Given the description of an element on the screen output the (x, y) to click on. 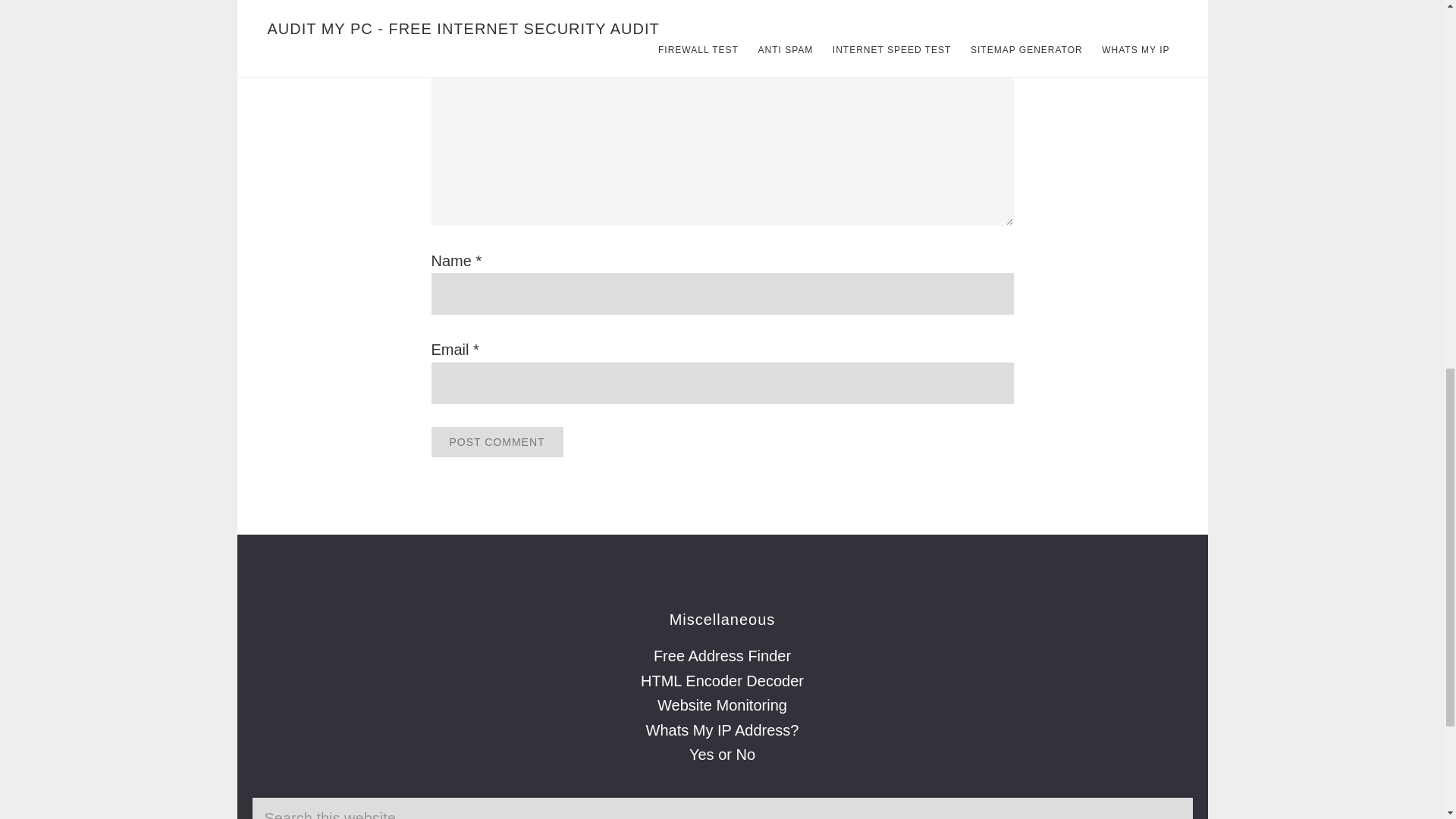
HTML Encoder Decoder (721, 680)
Free Address Finder (721, 655)
Whats My IP Address? (722, 729)
Yes or No (721, 754)
Post Comment (496, 441)
Website Monitoring (722, 704)
Post Comment (496, 441)
